Given the description of an element on the screen output the (x, y) to click on. 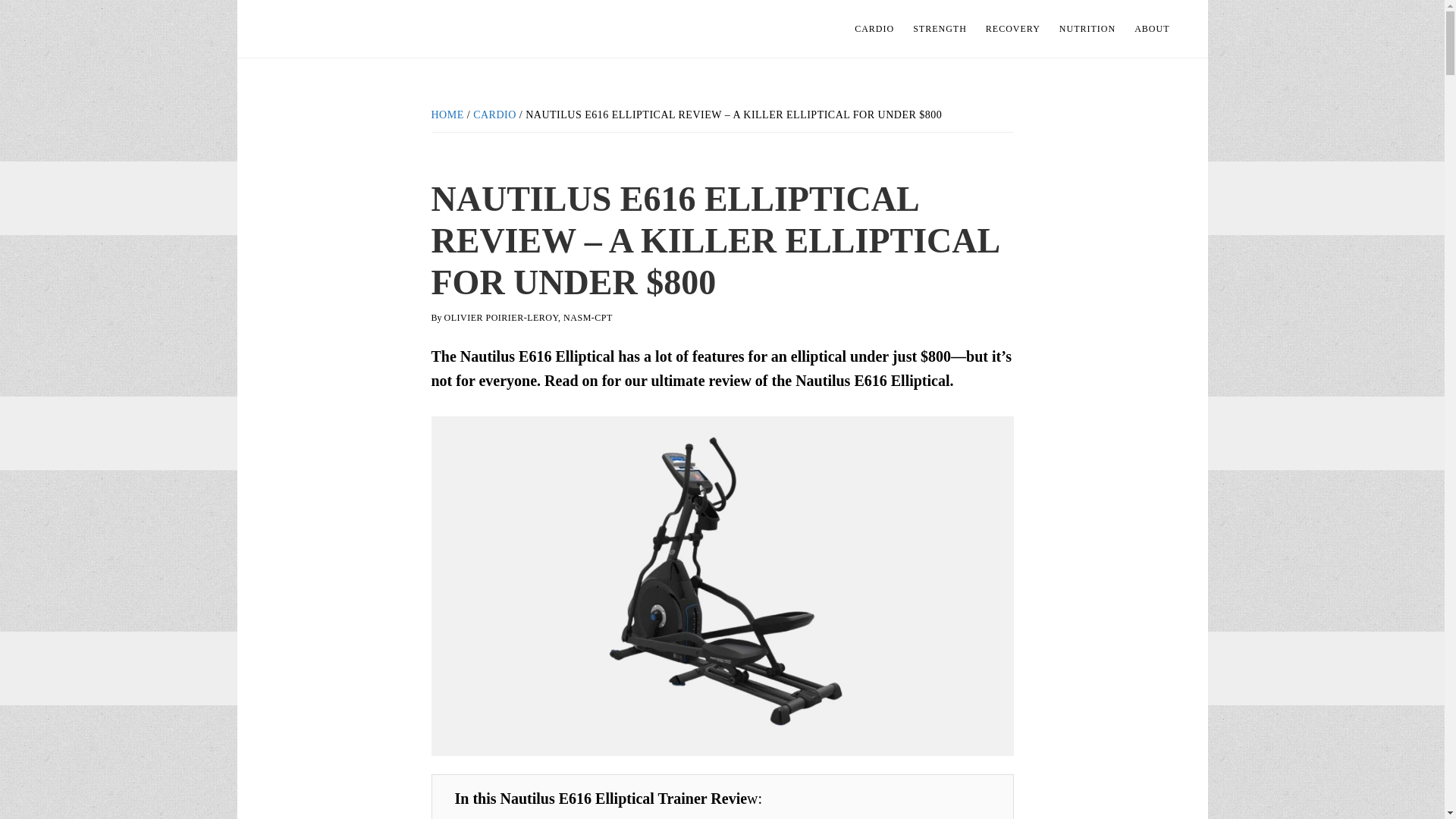
CARDIO (494, 114)
YOURWORKOUTBOOK (380, 28)
RECOVERY (1013, 28)
ABOUT (1151, 28)
CARDIO (874, 28)
HOME (446, 114)
NUTRITION (1086, 28)
STRENGTH (939, 28)
